Given the description of an element on the screen output the (x, y) to click on. 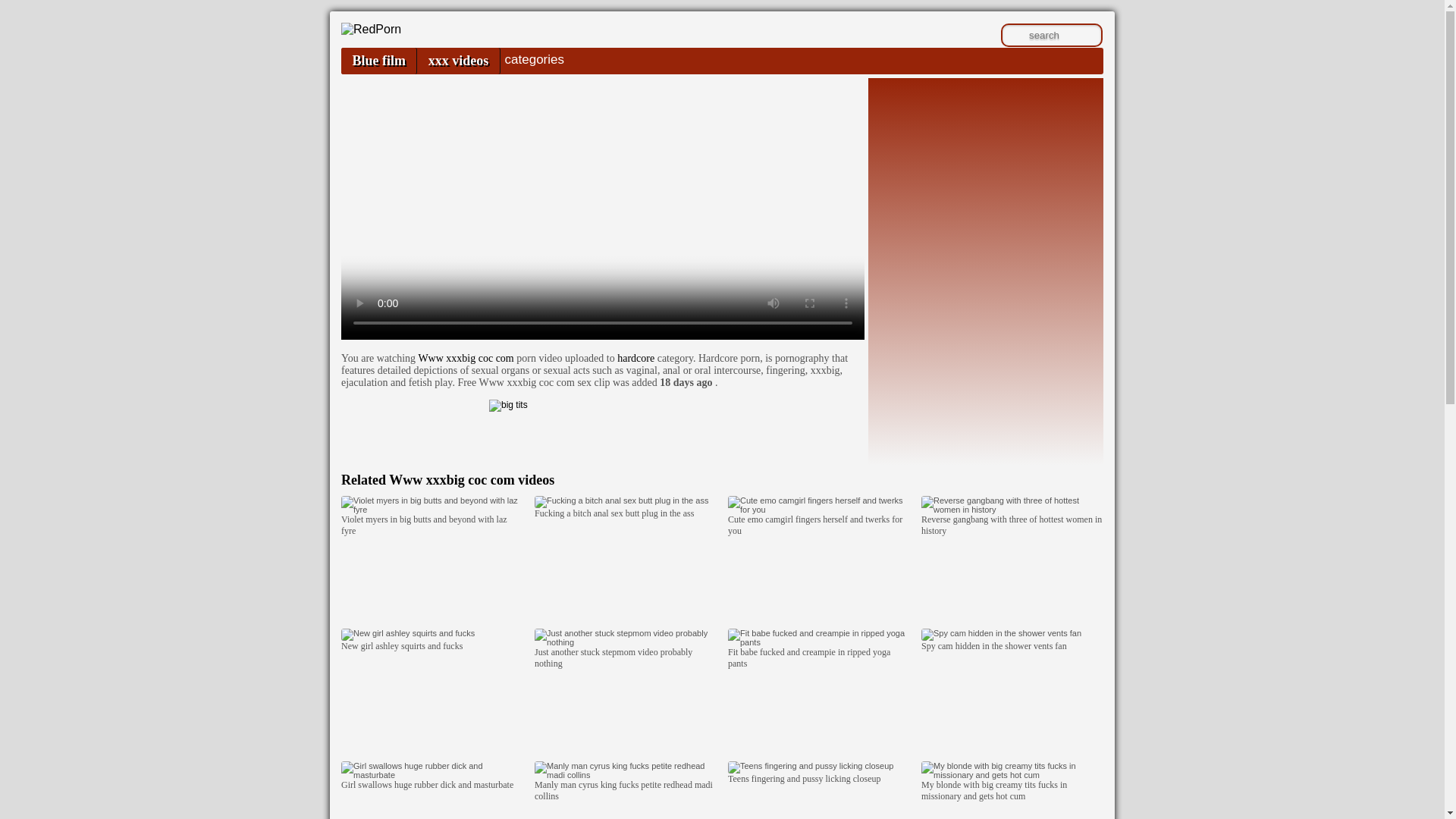
hardcore (635, 357)
categories (533, 59)
Www xxxbig coc com (465, 357)
Blue film (378, 60)
xxx videos (457, 60)
Www xxxbig coc com videos (471, 479)
Indian Porn (370, 29)
Blue film (378, 60)
xxx videos (457, 60)
